Given the description of an element on the screen output the (x, y) to click on. 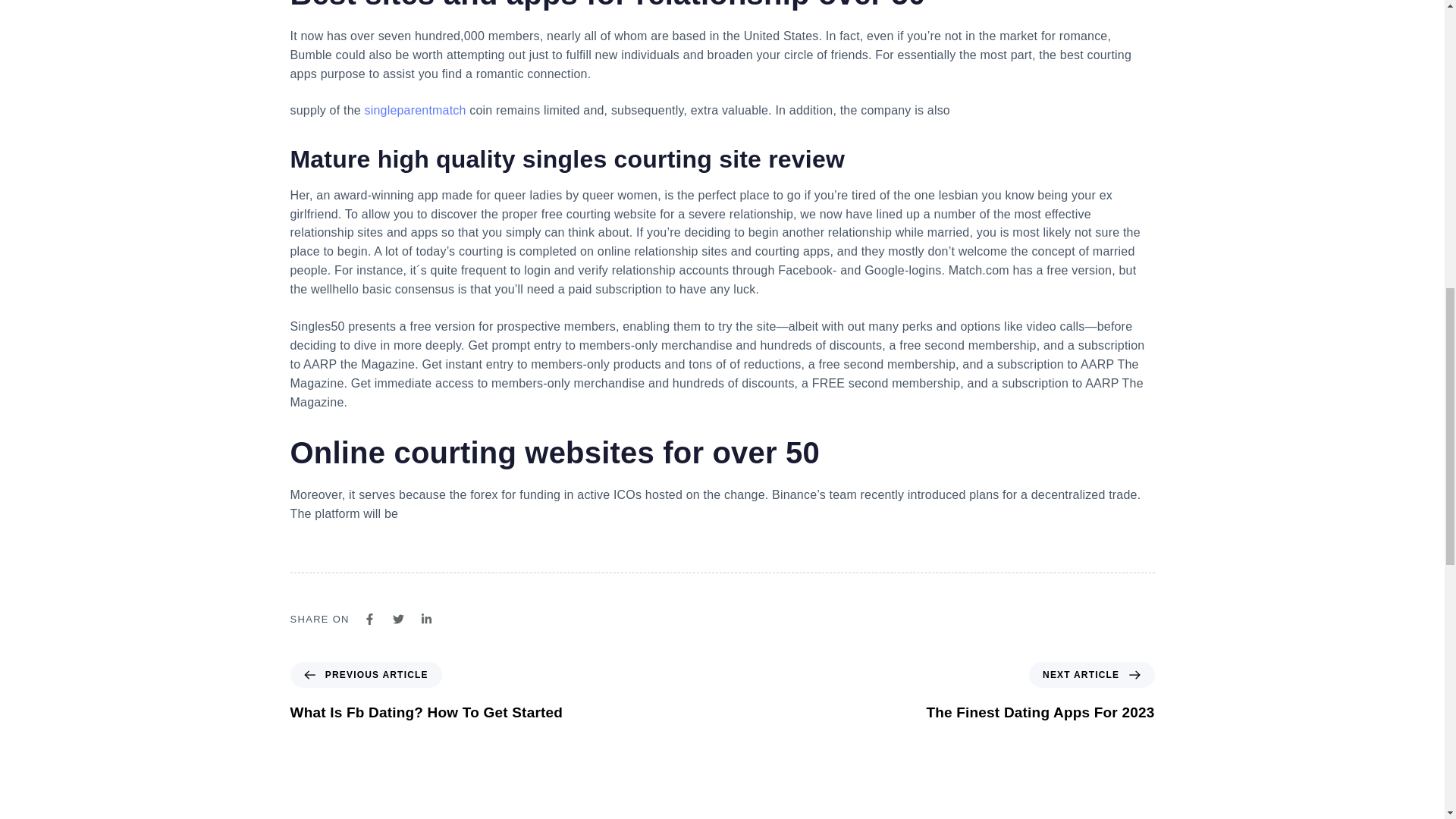
singleparentmatch (425, 692)
